Given the description of an element on the screen output the (x, y) to click on. 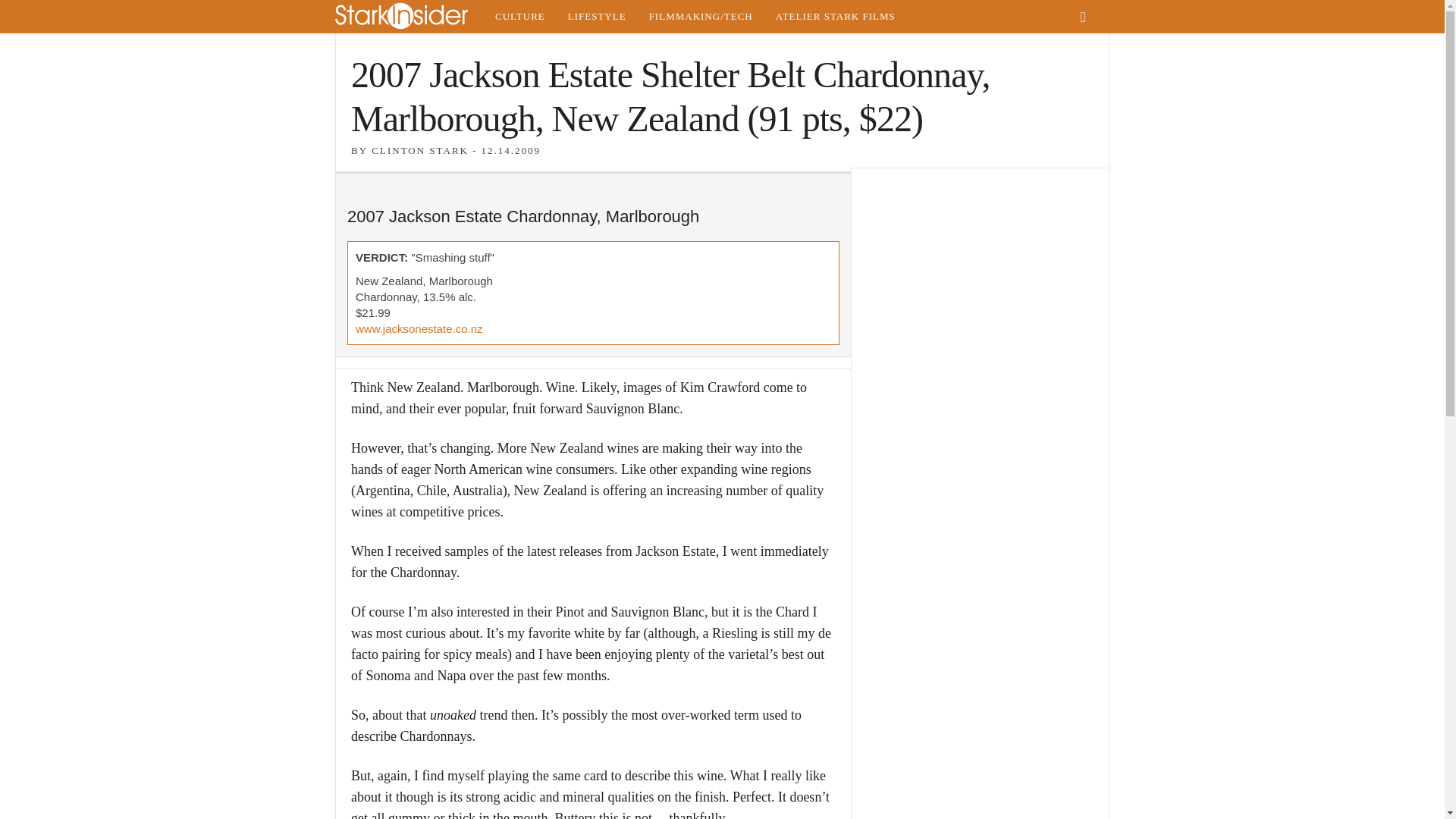
more wine (788, 305)
ATELIER STARK FILMS (835, 16)
91 out of 100 points (793, 266)
Tech, gadgets, camera news and reviews from Silicon Valley (700, 16)
Indie film, music, arts in San Francisco and Silicon Valley (519, 16)
Stark Insider (408, 16)
CLINTON STARK (419, 150)
LIFESTYLE (596, 16)
CULTURE (519, 16)
